Given the description of an element on the screen output the (x, y) to click on. 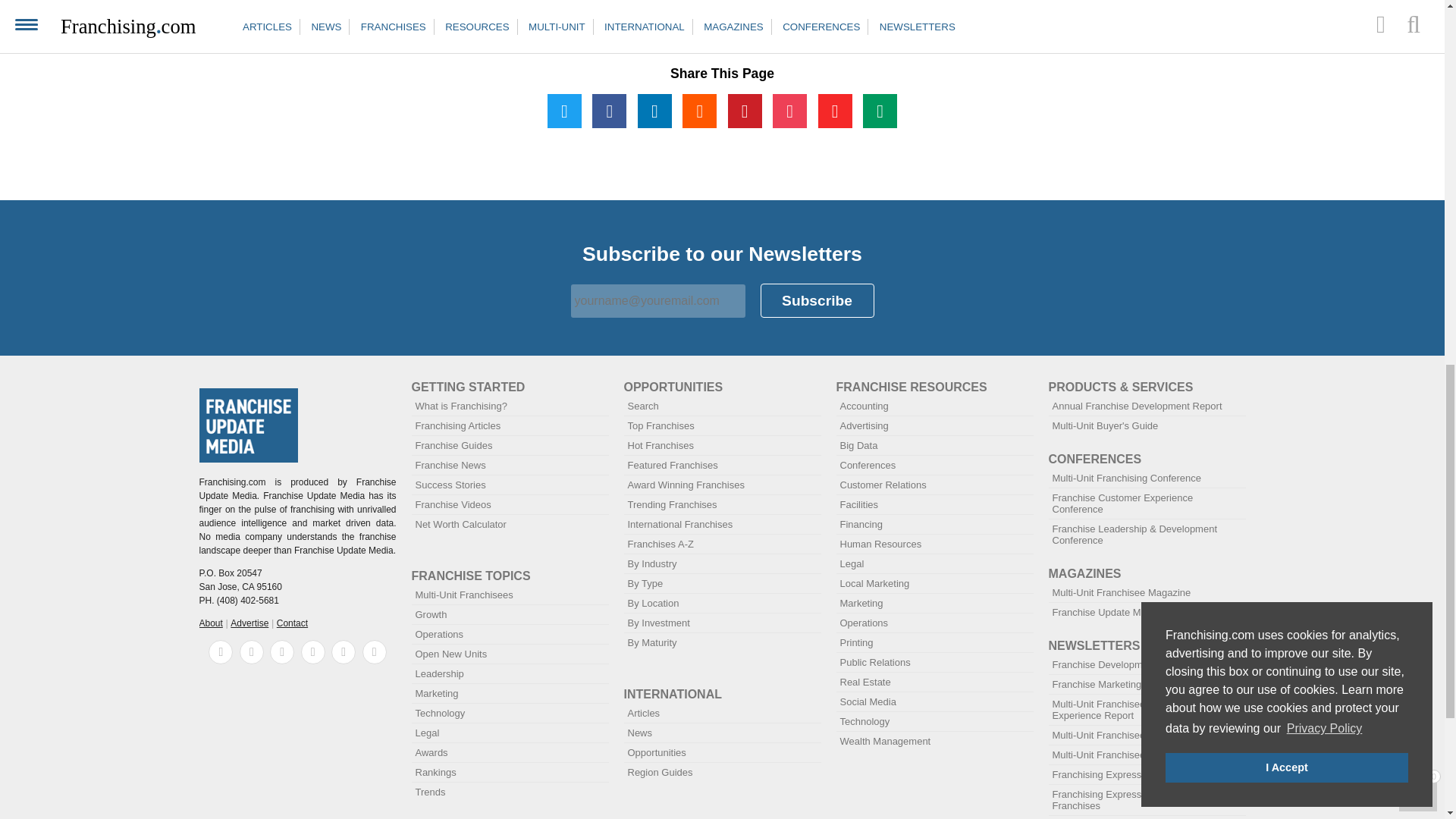
Subscribe (816, 300)
